Given the description of an element on the screen output the (x, y) to click on. 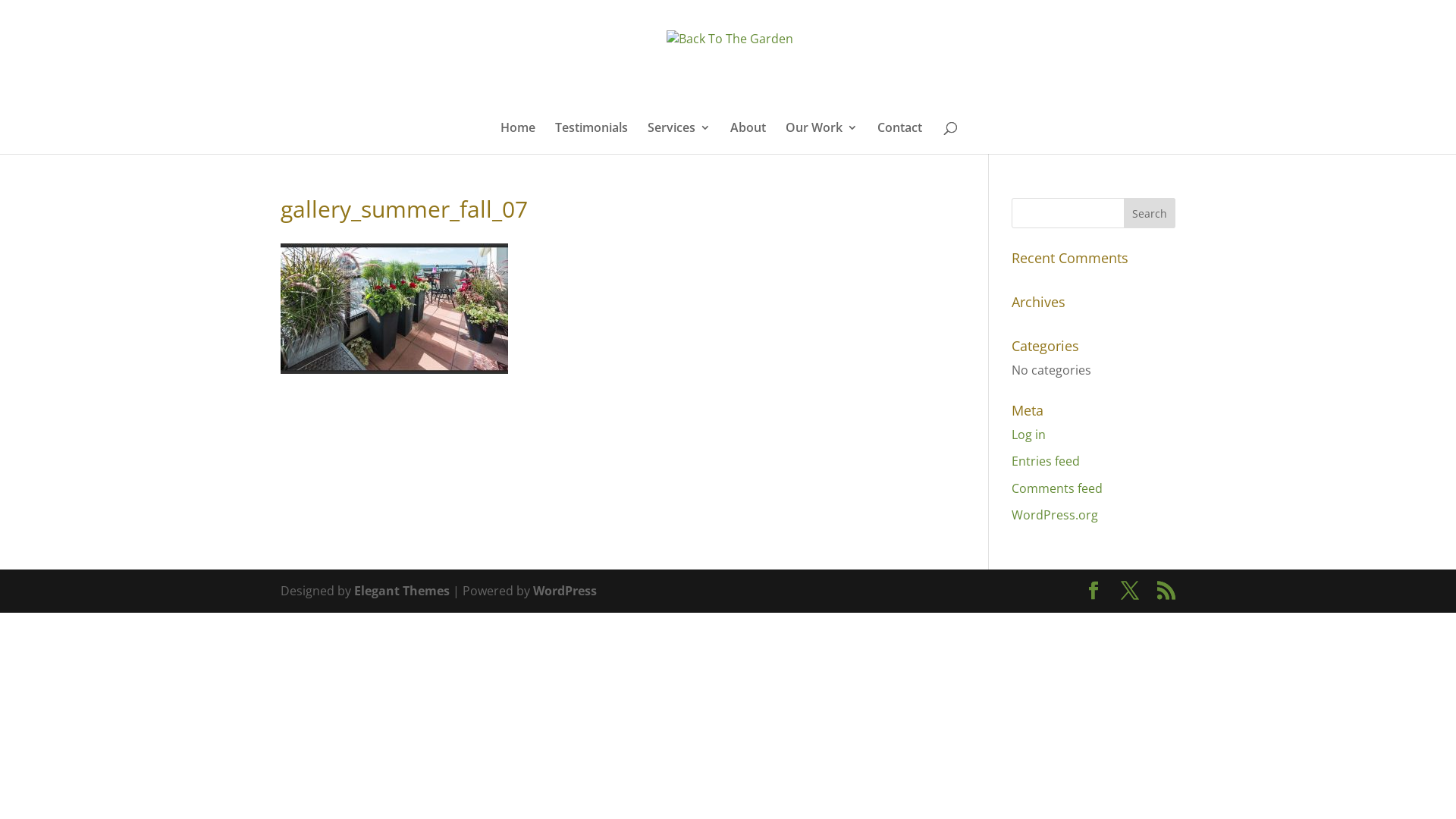
WordPress.org Element type: text (1054, 514)
About Element type: text (747, 137)
Search Element type: text (1149, 212)
Our Work Element type: text (821, 137)
Home Element type: text (517, 137)
Log in Element type: text (1028, 434)
Elegant Themes Element type: text (401, 590)
WordPress Element type: text (564, 590)
Contact Element type: text (899, 137)
Testimonials Element type: text (591, 137)
Services Element type: text (678, 137)
Entries feed Element type: text (1045, 460)
Comments feed Element type: text (1056, 488)
